Given the description of an element on the screen output the (x, y) to click on. 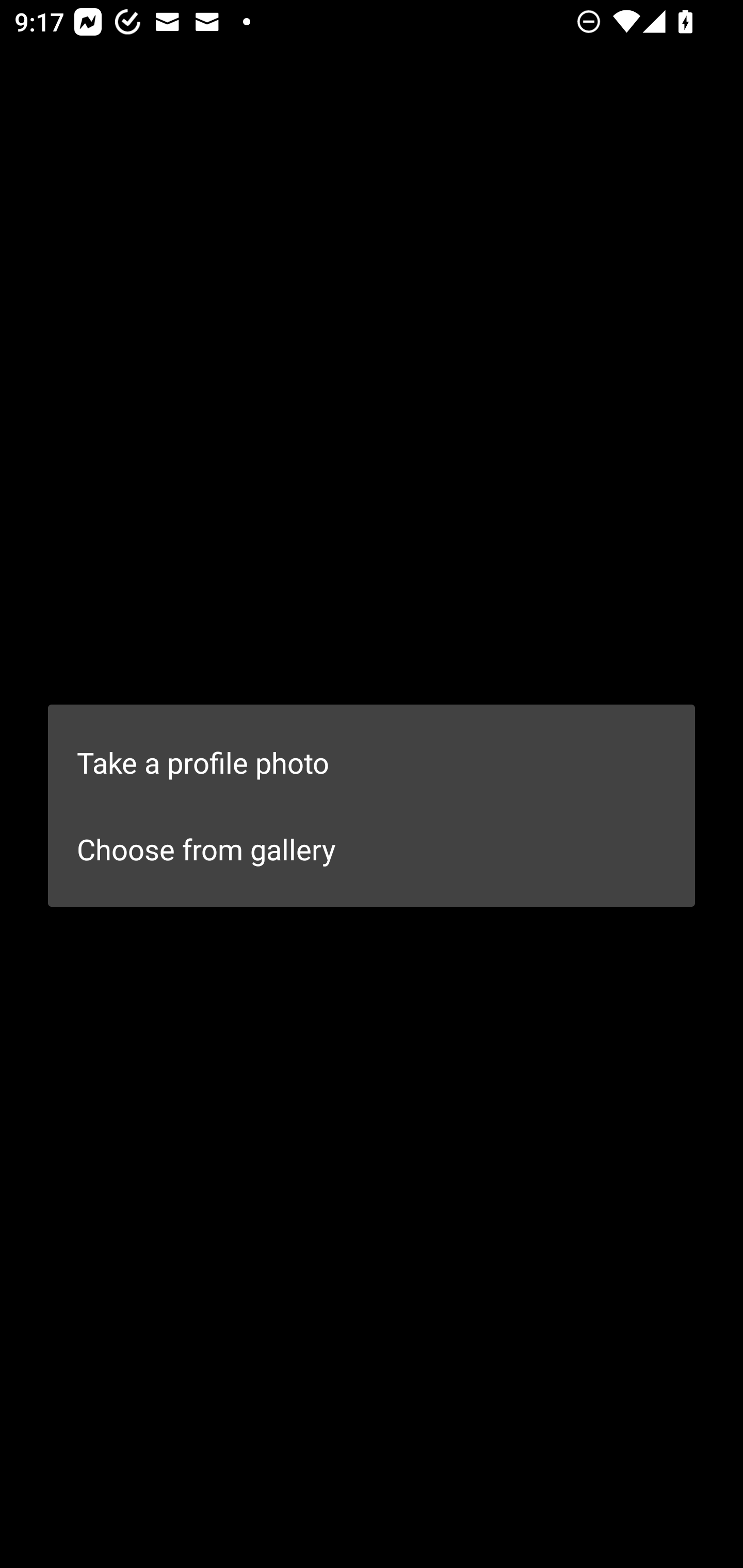
Take a profile photo (371, 762)
Choose from gallery (371, 848)
